Given the description of an element on the screen output the (x, y) to click on. 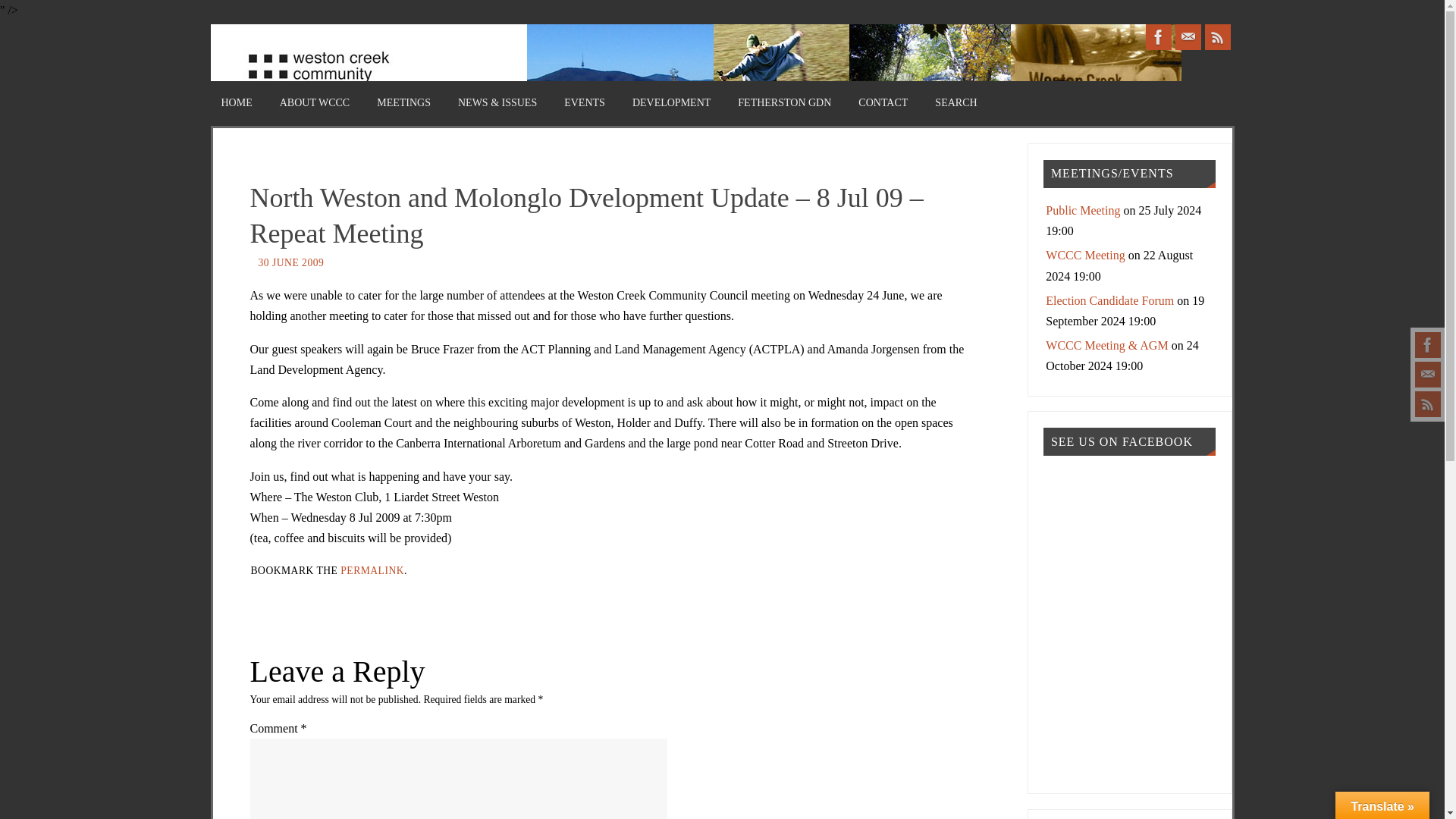
30 JUNE 2009 (290, 262)
HOME (237, 102)
PERMALINK (372, 570)
Mail (1428, 374)
ABOUT WCCC (314, 102)
Public Meeting (1082, 210)
DEVELOPMENT (670, 102)
RSS (1217, 36)
Election Candidate Forum (1109, 300)
WCCC Meeting (1084, 254)
MEETINGS (403, 102)
RSS (1428, 403)
SEARCH (955, 102)
Facebook (1428, 344)
EVENTS (584, 102)
